Given the description of an element on the screen output the (x, y) to click on. 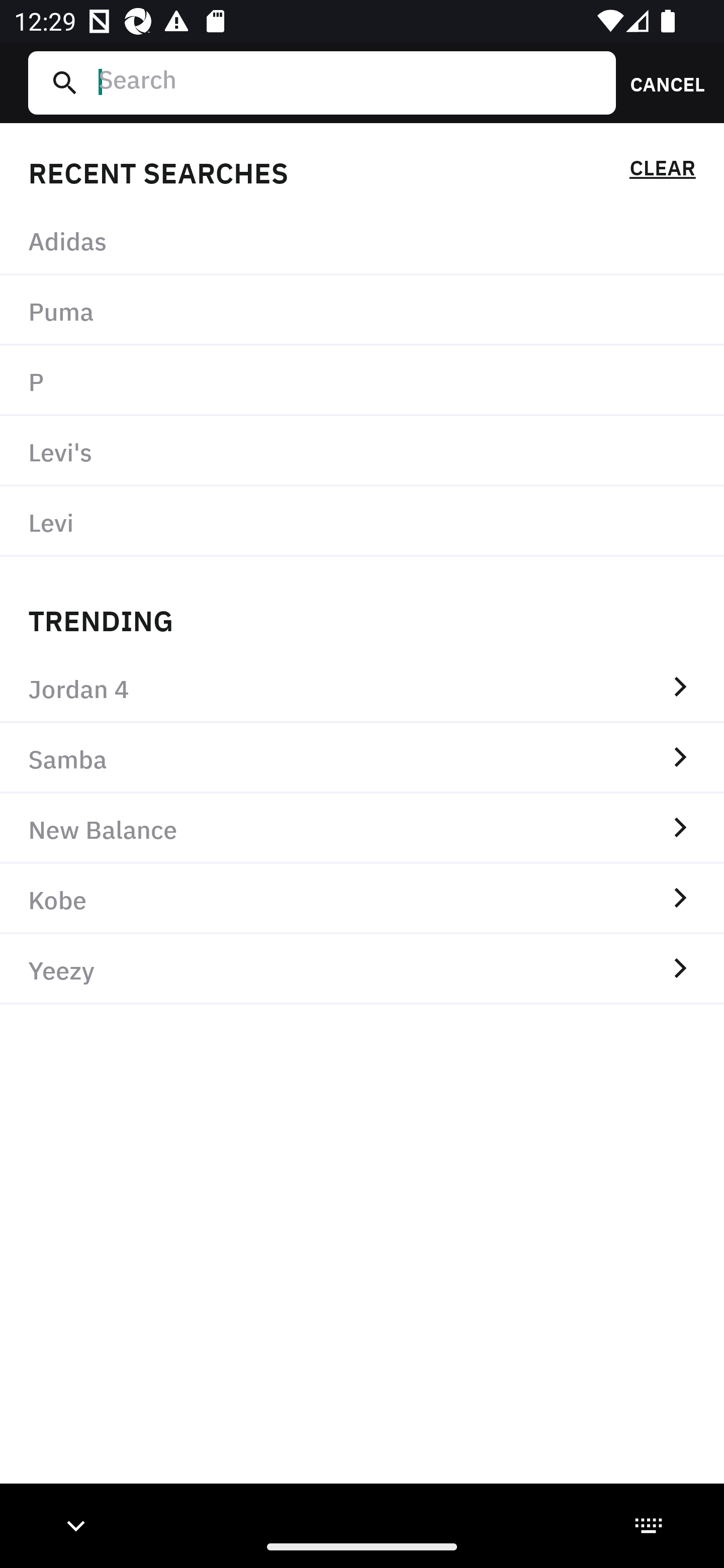
CANCEL (660, 82)
Search (349, 82)
CLEAR (662, 170)
Adidas (362, 240)
Puma (362, 310)
P (362, 380)
Levi's (362, 450)
Levi (362, 521)
Jordan 4  (362, 687)
Samba  (362, 757)
New Balance  (362, 828)
Kobe  (362, 898)
Yeezy  (362, 969)
